Given the description of an element on the screen output the (x, y) to click on. 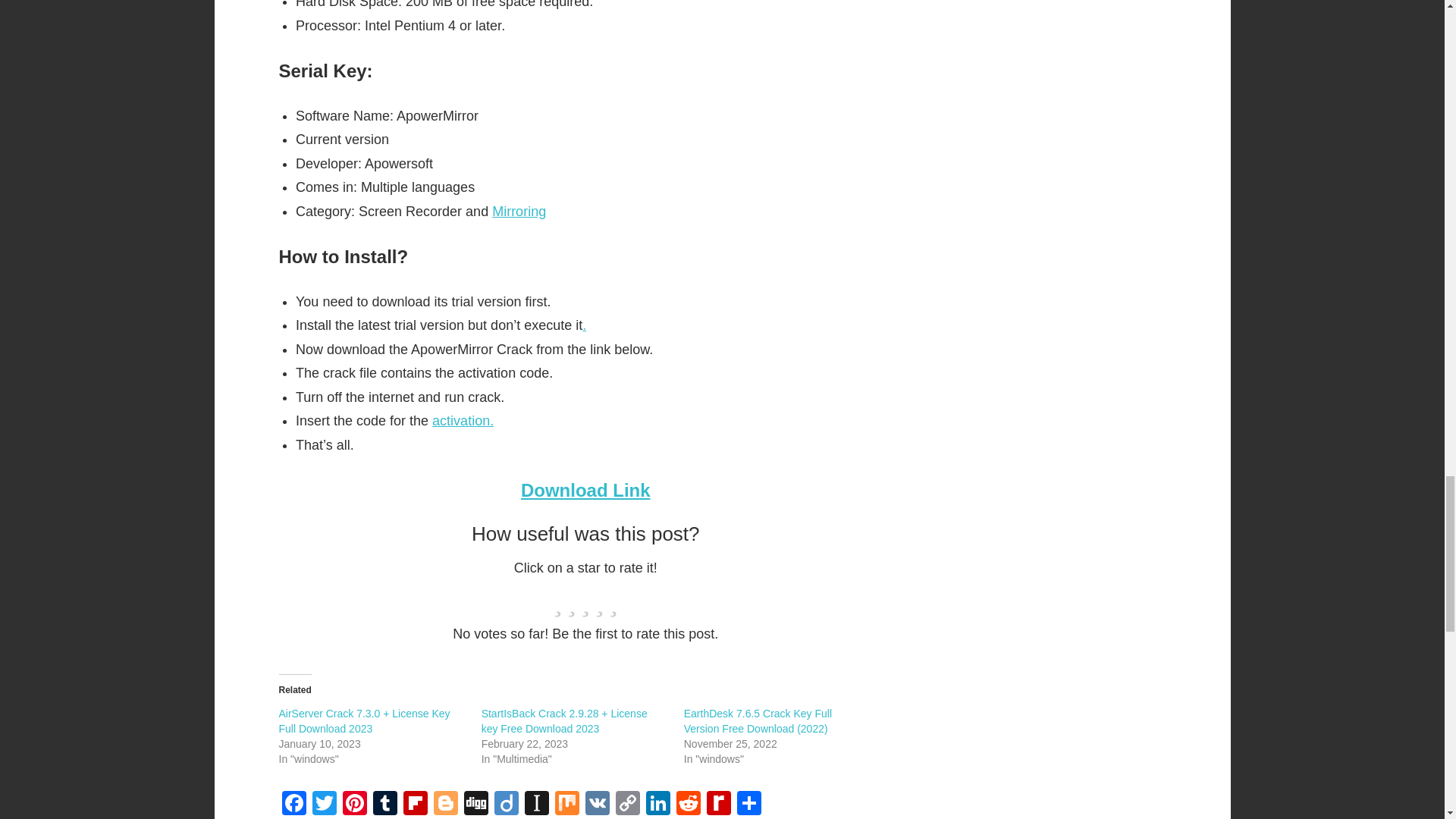
Tumblr (384, 805)
Pinterest (354, 805)
Digg (476, 805)
Twitter (323, 805)
Instapaper (536, 805)
Flipboard (415, 805)
Diigo (506, 805)
Mix (566, 805)
Blogger (445, 805)
Facebook (293, 805)
